Given the description of an element on the screen output the (x, y) to click on. 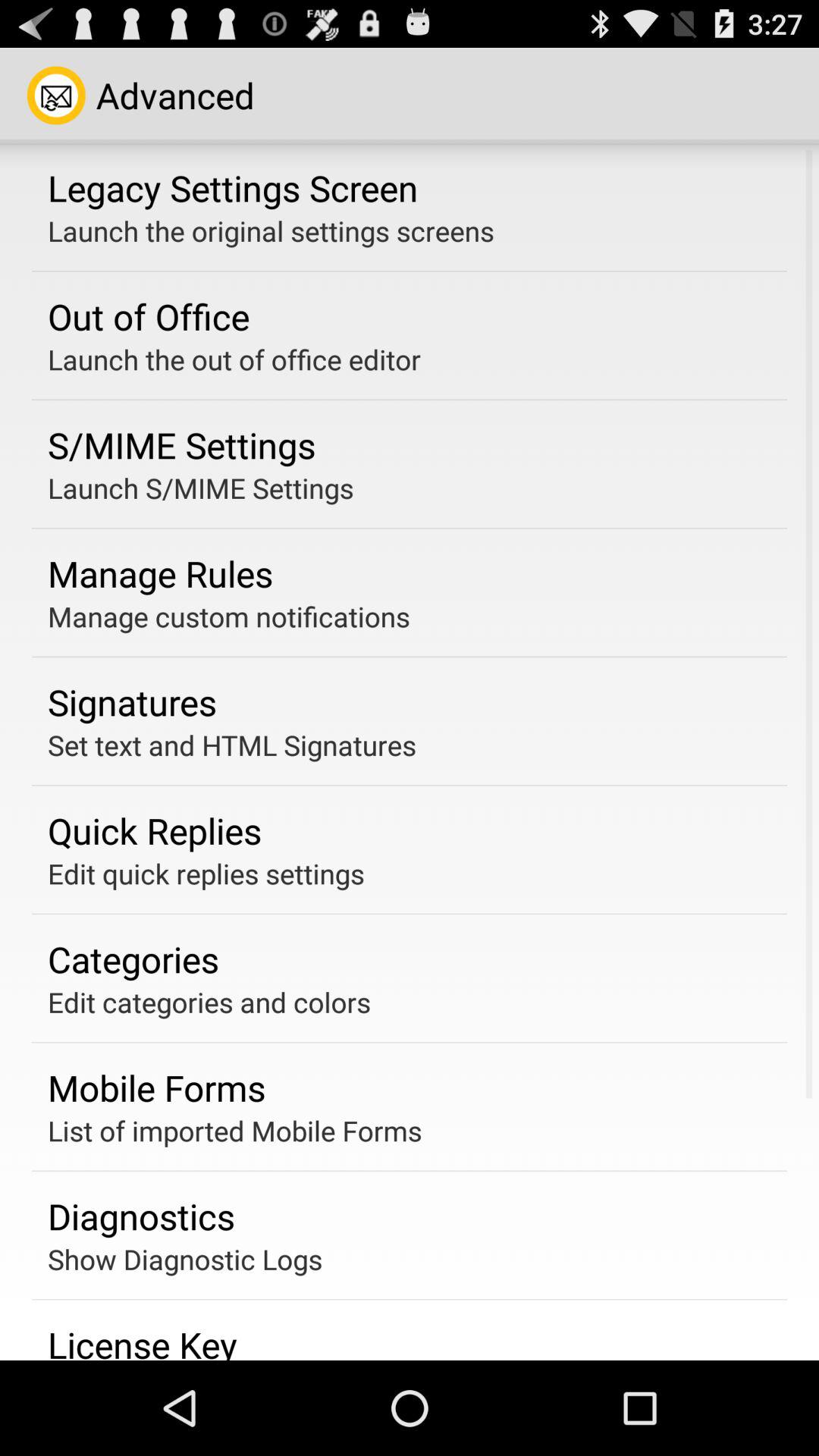
choose the app below signatures (231, 744)
